Given the description of an element on the screen output the (x, y) to click on. 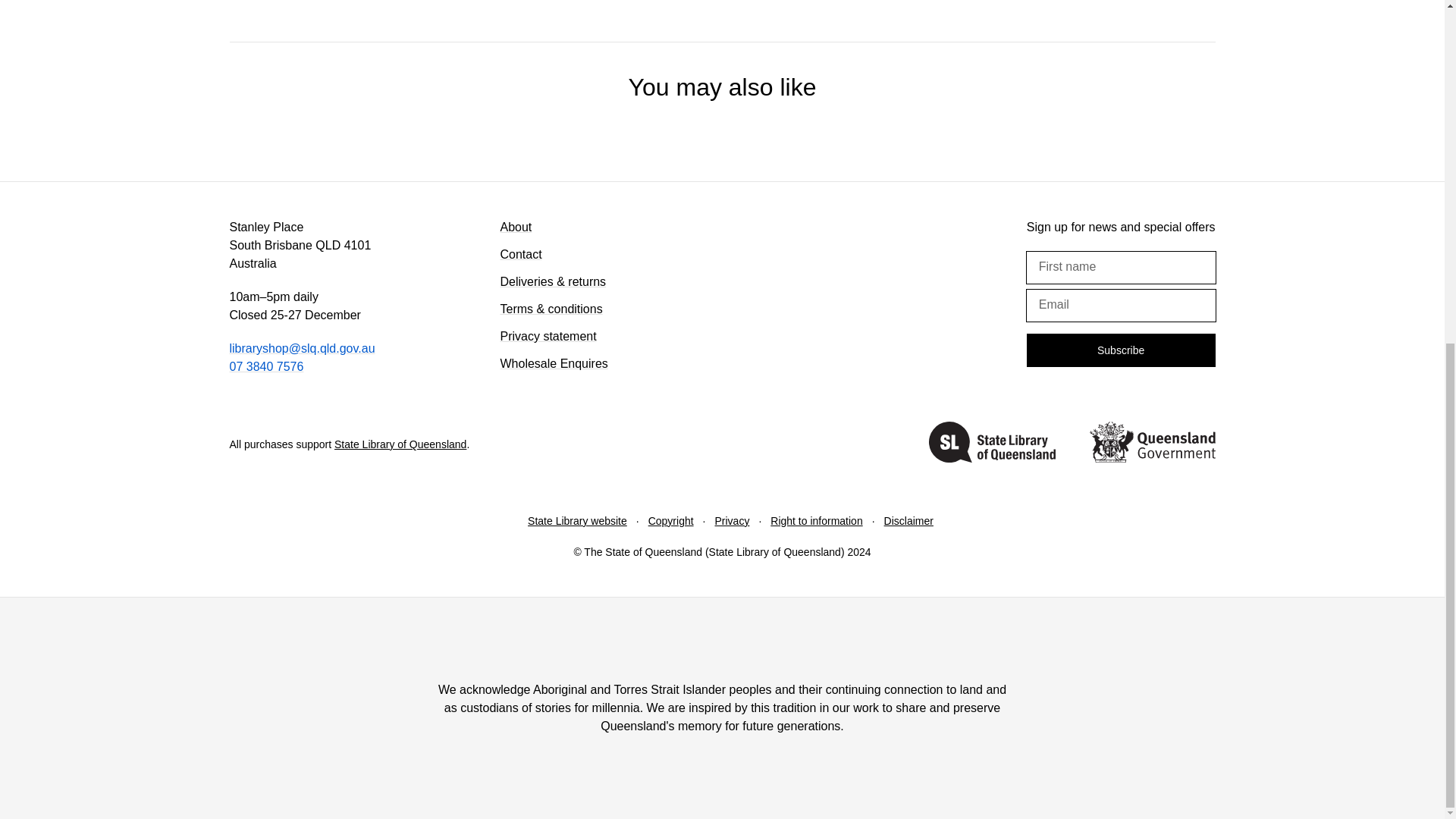
Go to Queensland Government homepage (1151, 444)
tel:07 3840 7576 (265, 366)
Go to Queensland State Library homepage (992, 444)
